Given the description of an element on the screen output the (x, y) to click on. 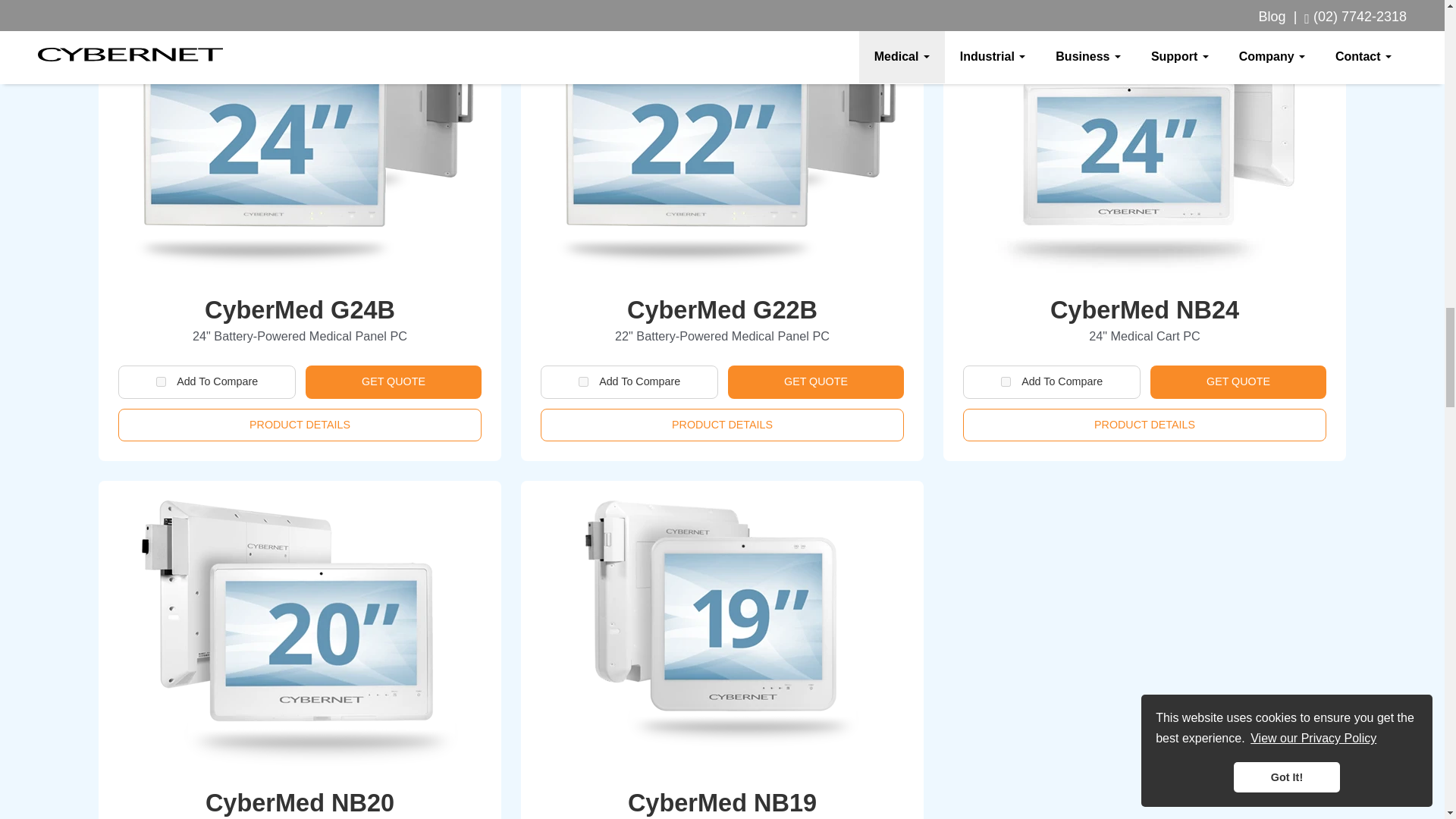
233 (1005, 381)
310 (583, 381)
316 (160, 381)
